Given the description of an element on the screen output the (x, y) to click on. 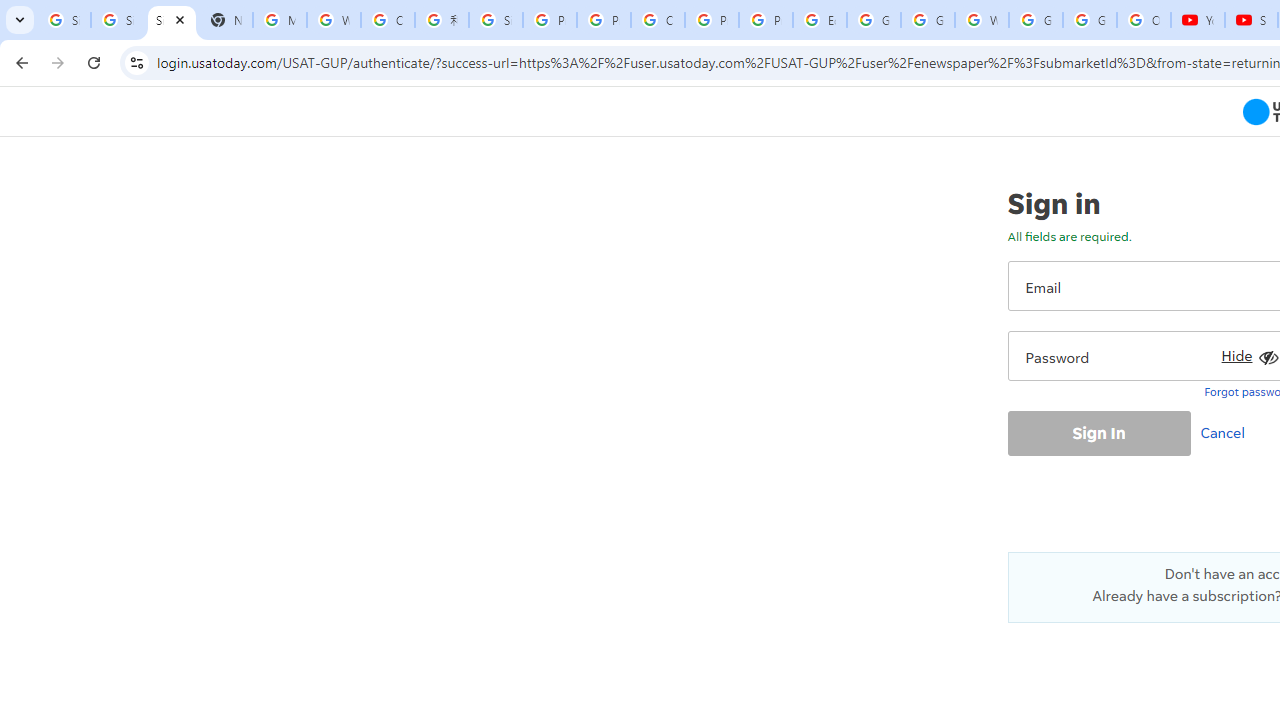
Sign In (1098, 432)
Create your Google Account (387, 20)
YouTube (1197, 20)
Google Slides: Sign-in (874, 20)
Edit and view right-to-left text - Google Docs Editors Help (819, 20)
Hide (1247, 351)
Cancel (1227, 431)
Sign in - Google Accounts (117, 20)
Sign In - USA TODAY (171, 20)
